Given the description of an element on the screen output the (x, y) to click on. 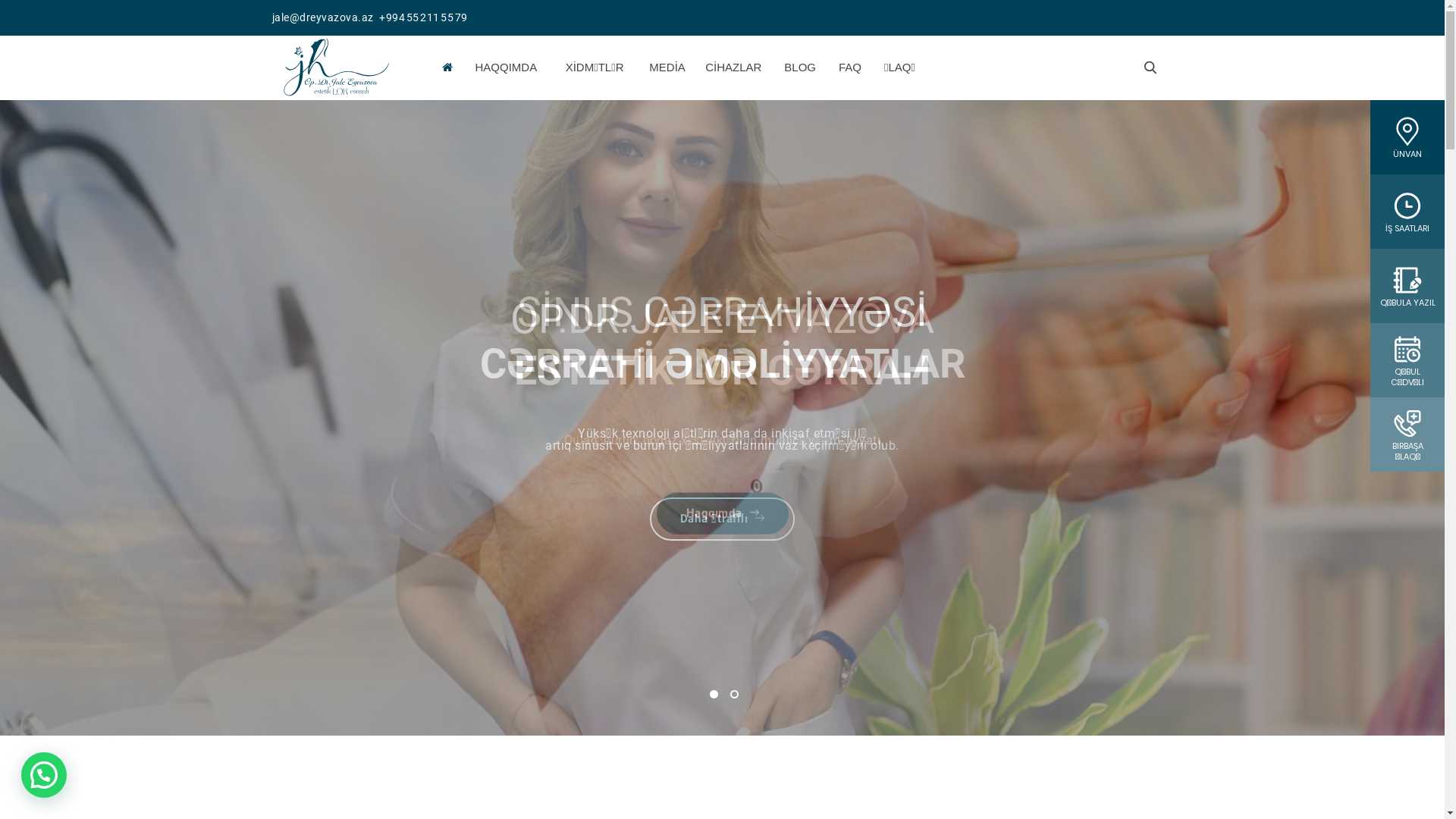
BLOG Element type: text (799, 67)
2 Element type: text (733, 694)
HAQQIMDA Element type: text (505, 67)
Axtar Element type: text (1149, 67)
FAQ Element type: text (849, 67)
1 Element type: text (713, 694)
